Given the description of an element on the screen output the (x, y) to click on. 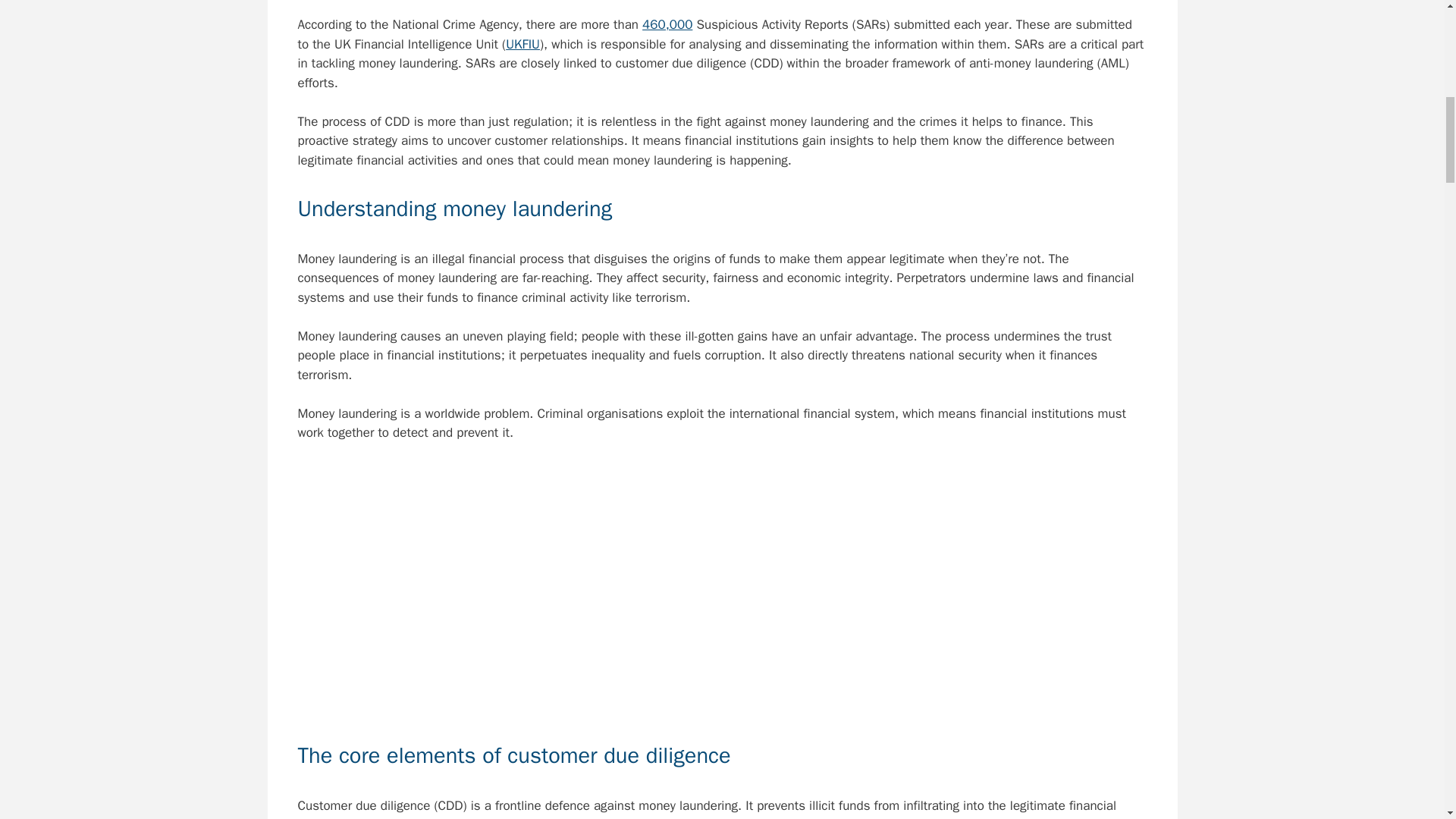
UKFIU (522, 44)
460,000 (667, 24)
